Given the description of an element on the screen output the (x, y) to click on. 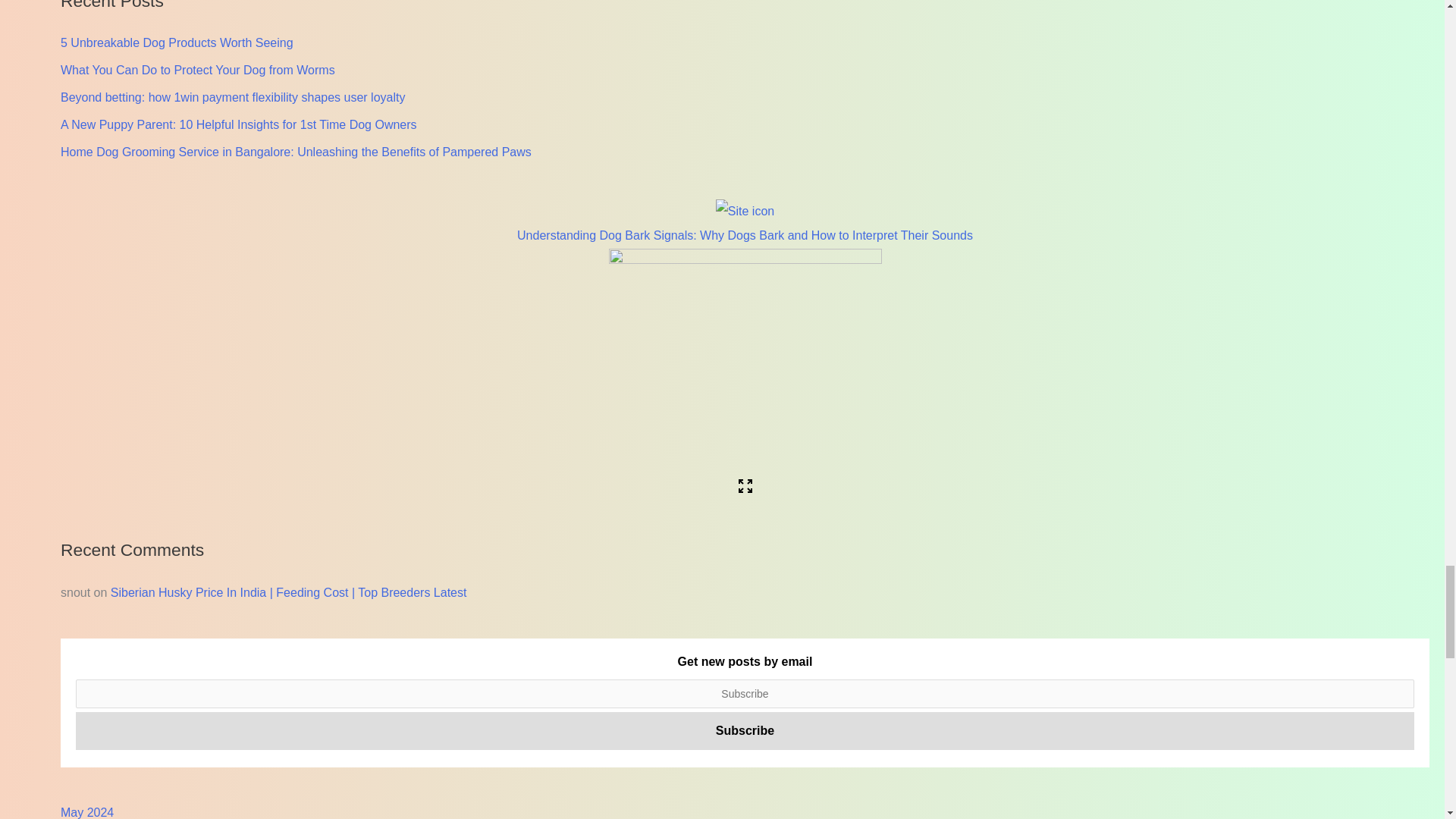
Subscribe (744, 730)
